Given the description of an element on the screen output the (x, y) to click on. 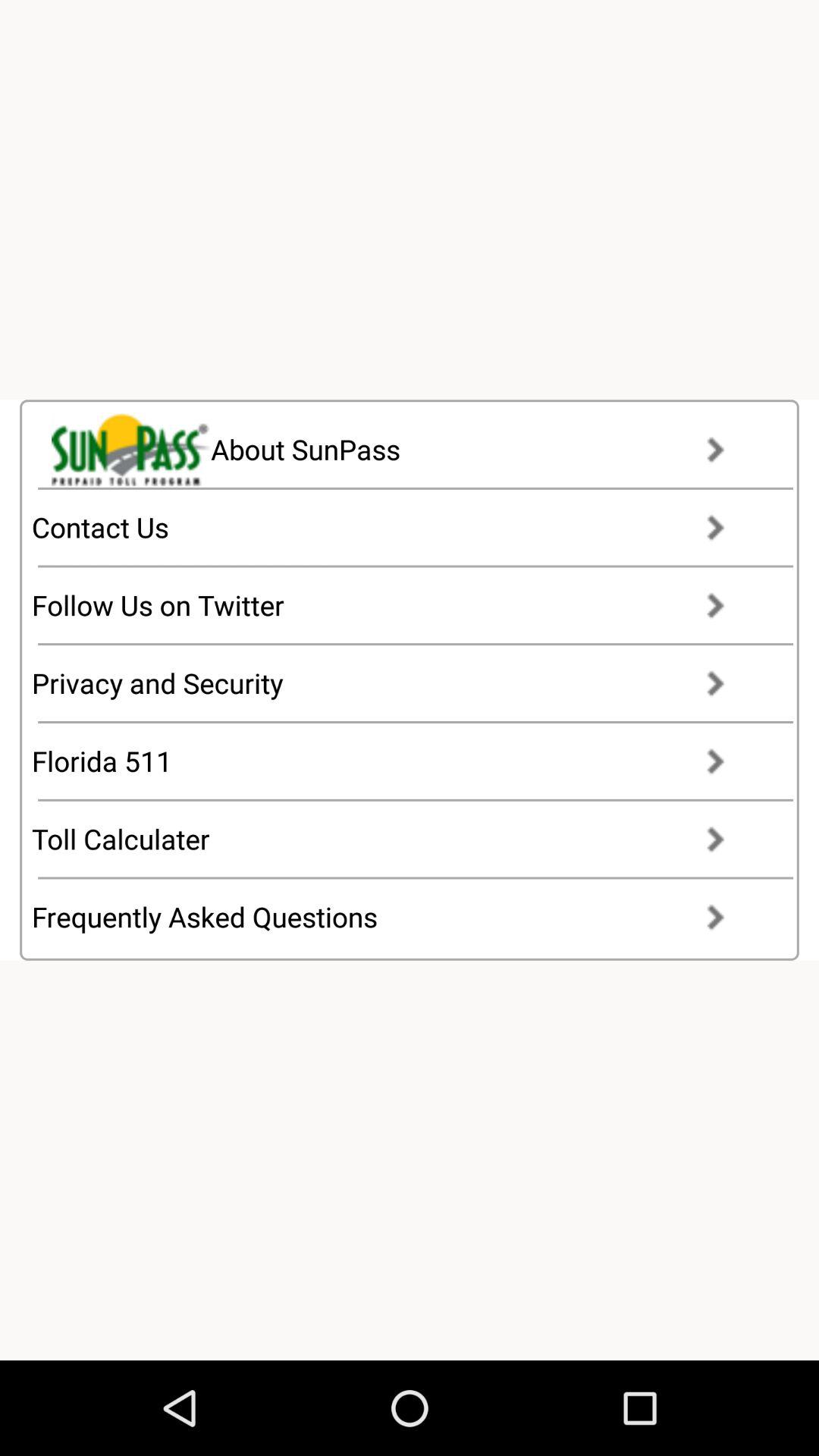
open florida 511 icon (392, 761)
